Given the description of an element on the screen output the (x, y) to click on. 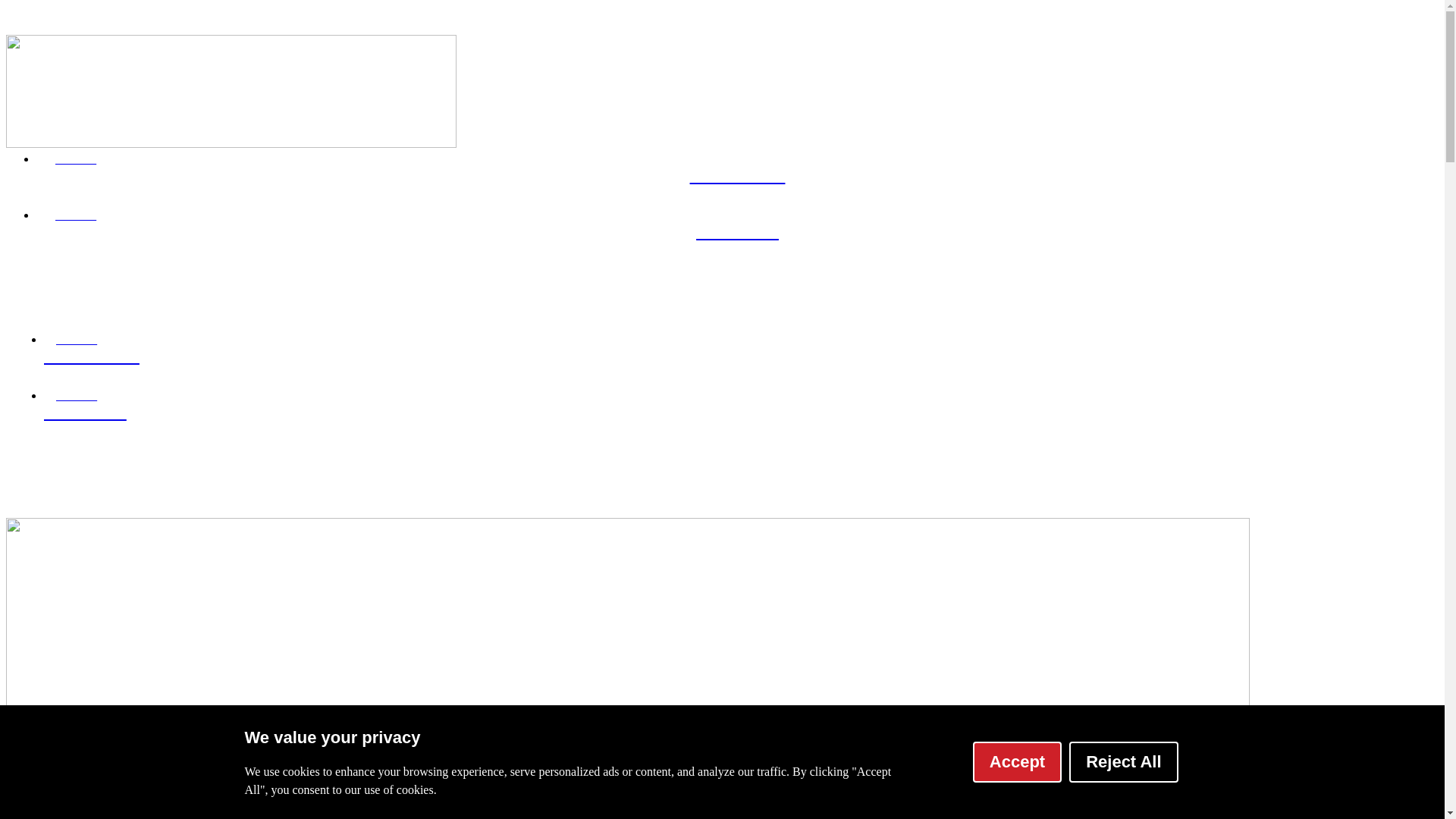
Accept Element type: text (1016, 761)
home
NEW SHOW Element type: text (736, 357)
home
10X BLOG Element type: text (736, 413)
home
10X BLOG Element type: text (737, 232)
home
NEW SHOW Element type: text (737, 176)
Reject All Element type: text (1123, 761)
